Given the description of an element on the screen output the (x, y) to click on. 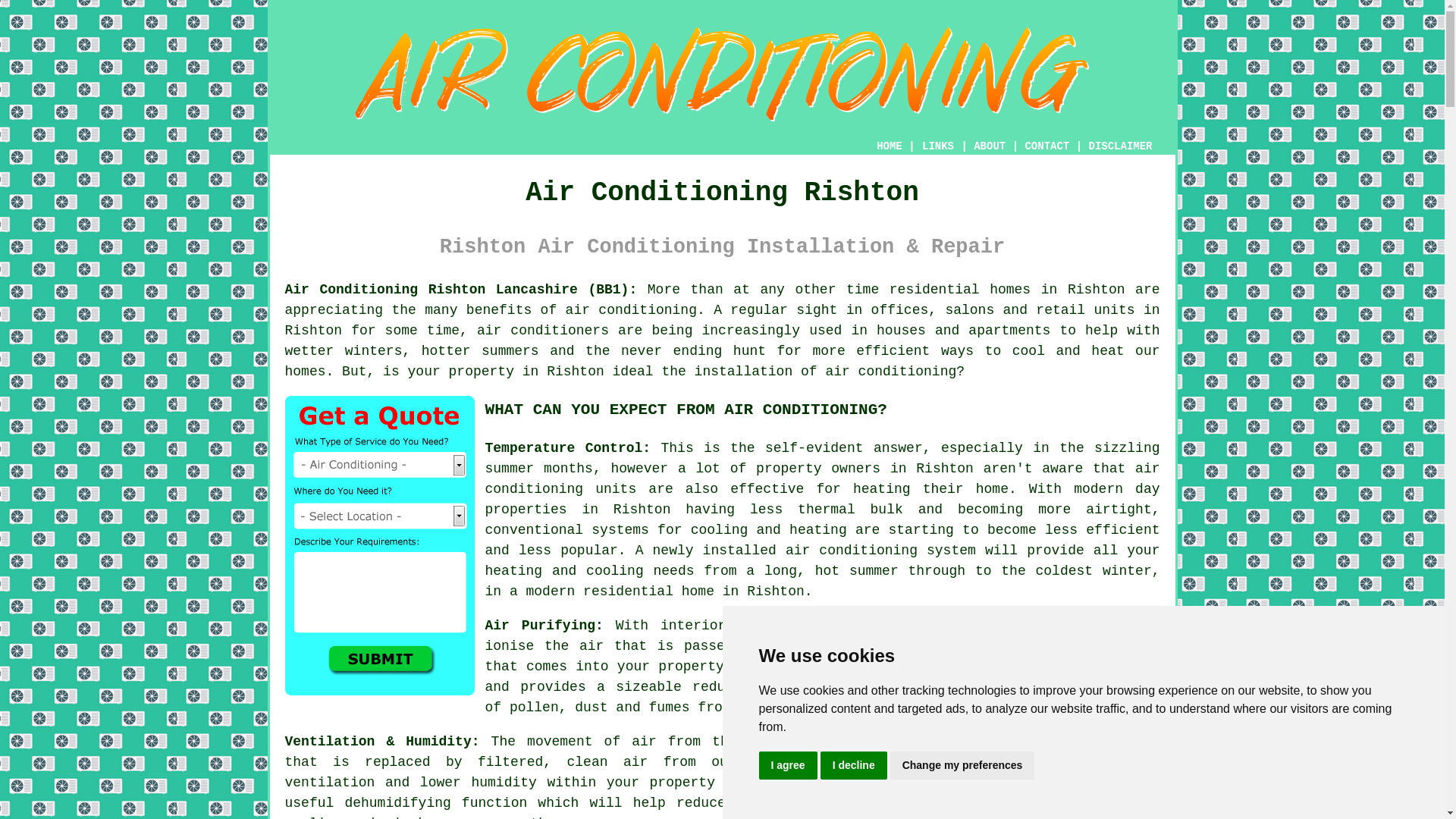
Change my preferences (962, 765)
installed air conditioning system (839, 549)
air conditioning (631, 309)
HOME (889, 146)
I agree (787, 765)
dehumidifying function (435, 802)
Air Conditioning Rishton (722, 74)
LINKS (938, 146)
I decline (853, 765)
